Given the description of an element on the screen output the (x, y) to click on. 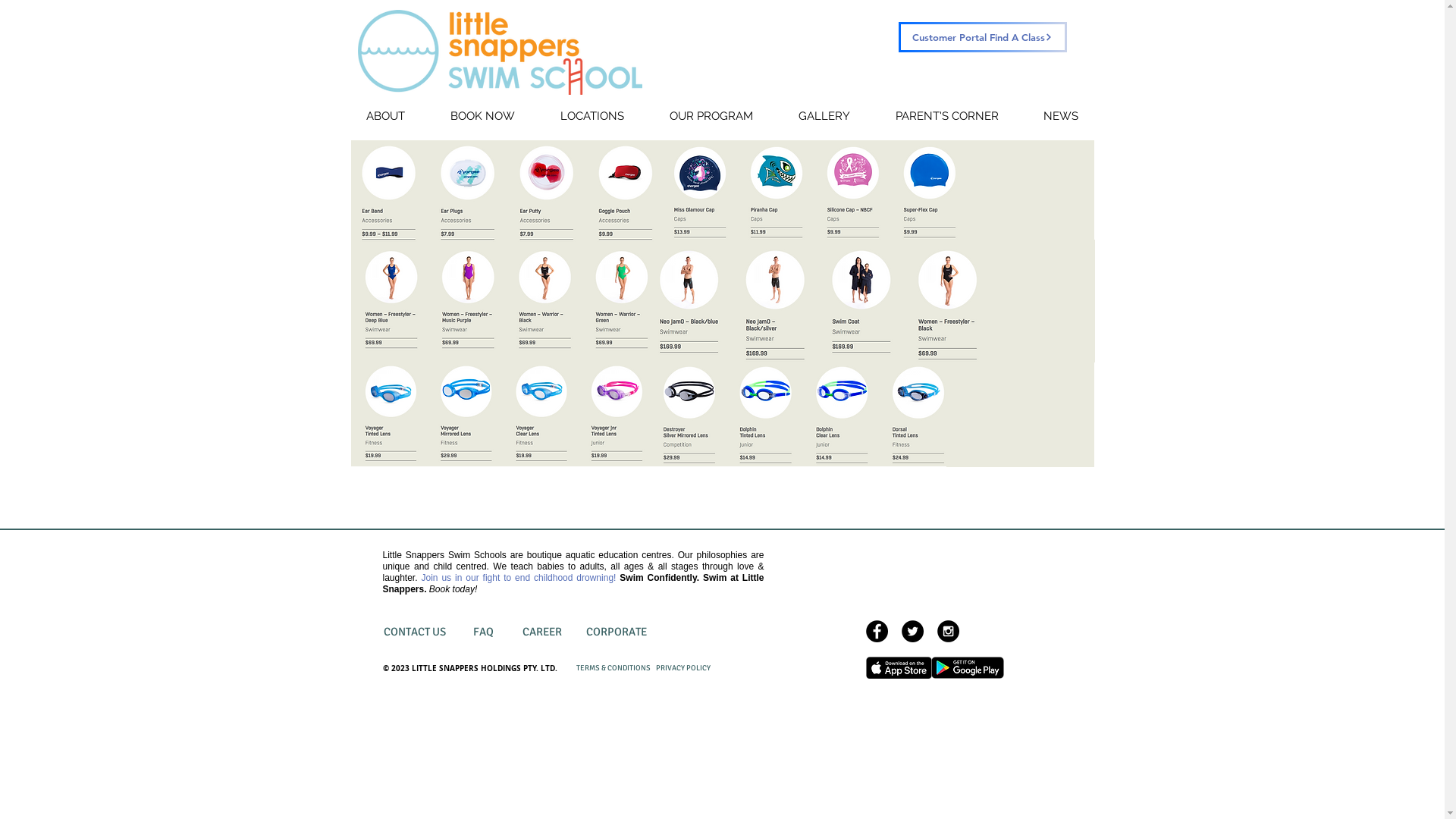
TERMS & CONDITIONS Element type: text (613, 667)
NEWS Element type: text (1060, 116)
CONTACT US Element type: text (413, 631)
GALLERY Element type: text (823, 116)
Book today! Element type: text (452, 588)
Customer Portal Find A Class Element type: text (981, 36)
PARENT'S CORNER Element type: text (946, 116)
OUR PROGRAM Element type: text (710, 116)
CORPORATE Element type: text (616, 631)
PRIVACY POLICY Element type: text (683, 667)
ABOUT Element type: text (384, 116)
LOGO CONCEPT-01.png Element type: hover (499, 51)
BOOK NOW Element type: text (482, 116)
LOCATIONS Element type: text (591, 116)
CAREER Element type: text (542, 631)
FAQ Element type: text (483, 631)
